Given the description of an element on the screen output the (x, y) to click on. 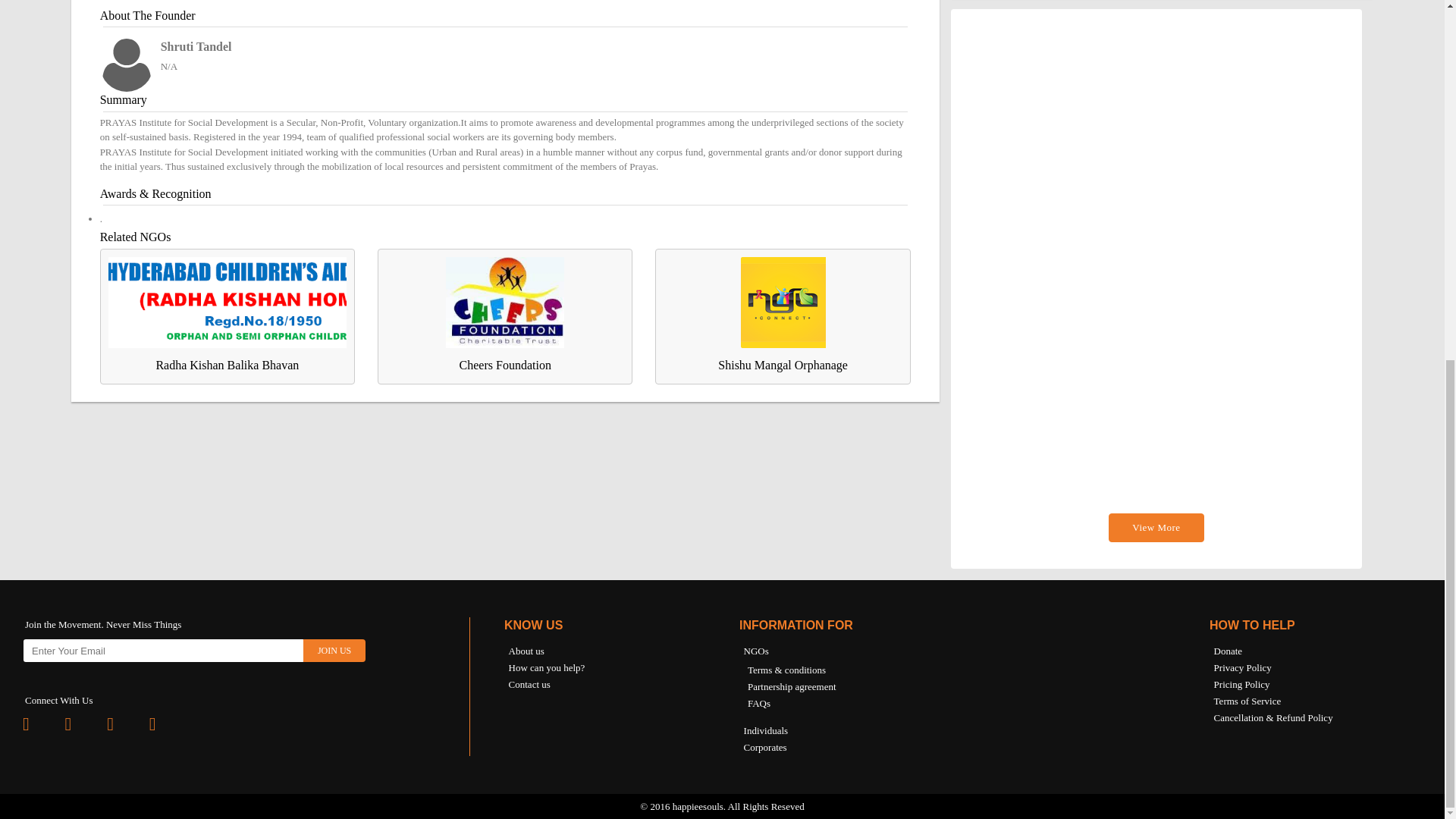
Sign up for our newsletter (163, 650)
Join Us (333, 650)
